Given the description of an element on the screen output the (x, y) to click on. 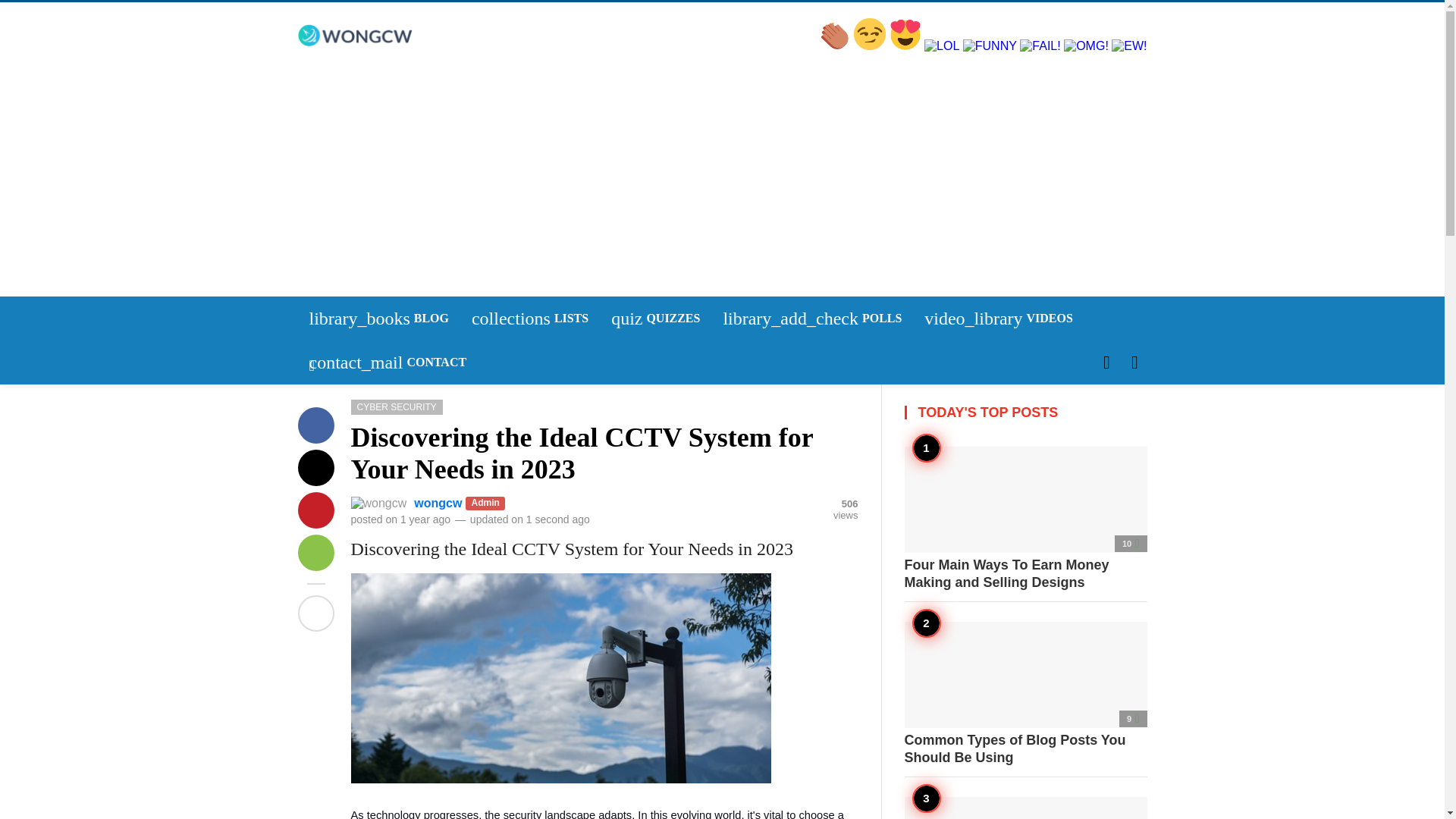
AWESOME! (334, 492)
NICE (870, 45)
AWESOME! (835, 45)
LOVED (906, 45)
Contact (655, 318)
sign up (336, 494)
FAIL! (529, 318)
OMG! (331, 491)
